Given the description of an element on the screen output the (x, y) to click on. 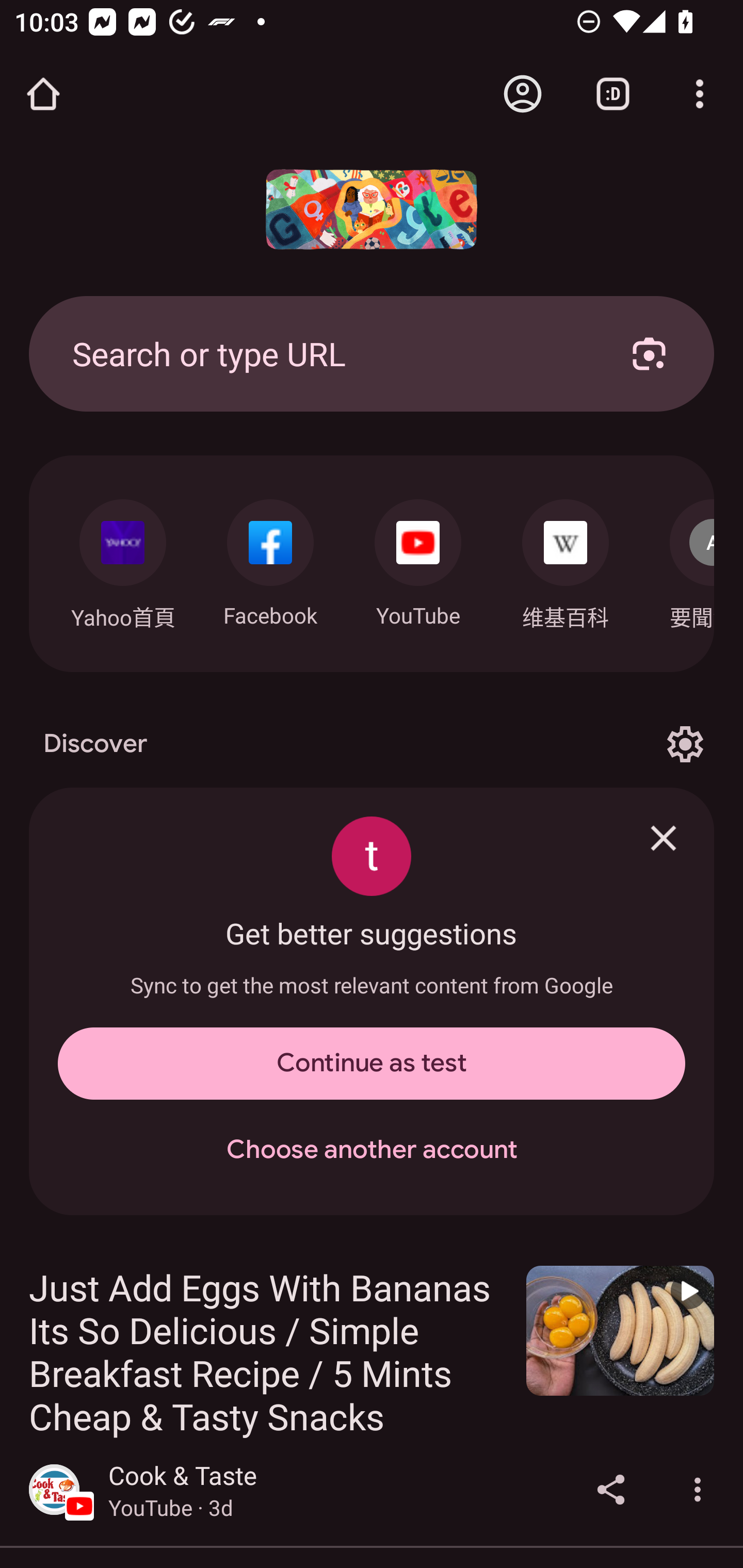
Open the home page (43, 93)
Switch or close tabs (612, 93)
Customize and control Google Chrome (699, 93)
Google doodle: 2024 年國際婦女節 (371, 209)
Search or type URL (327, 353)
Search with your camera using Google Lens (648, 353)
Navigate: Yahoo首頁: hk.mobi.yahoo.com Yahoo首頁 (122, 558)
Navigate: Facebook: m.facebook.com Facebook (270, 558)
Navigate: YouTube: m.youtube.com YouTube (417, 558)
Navigate: 维基百科: zh.m.wikipedia.org 维基百科 (565, 558)
Options for Discover (684, 743)
Close (663, 837)
Continue as test (371, 1063)
Choose another account (371, 1150)
